Given the description of an element on the screen output the (x, y) to click on. 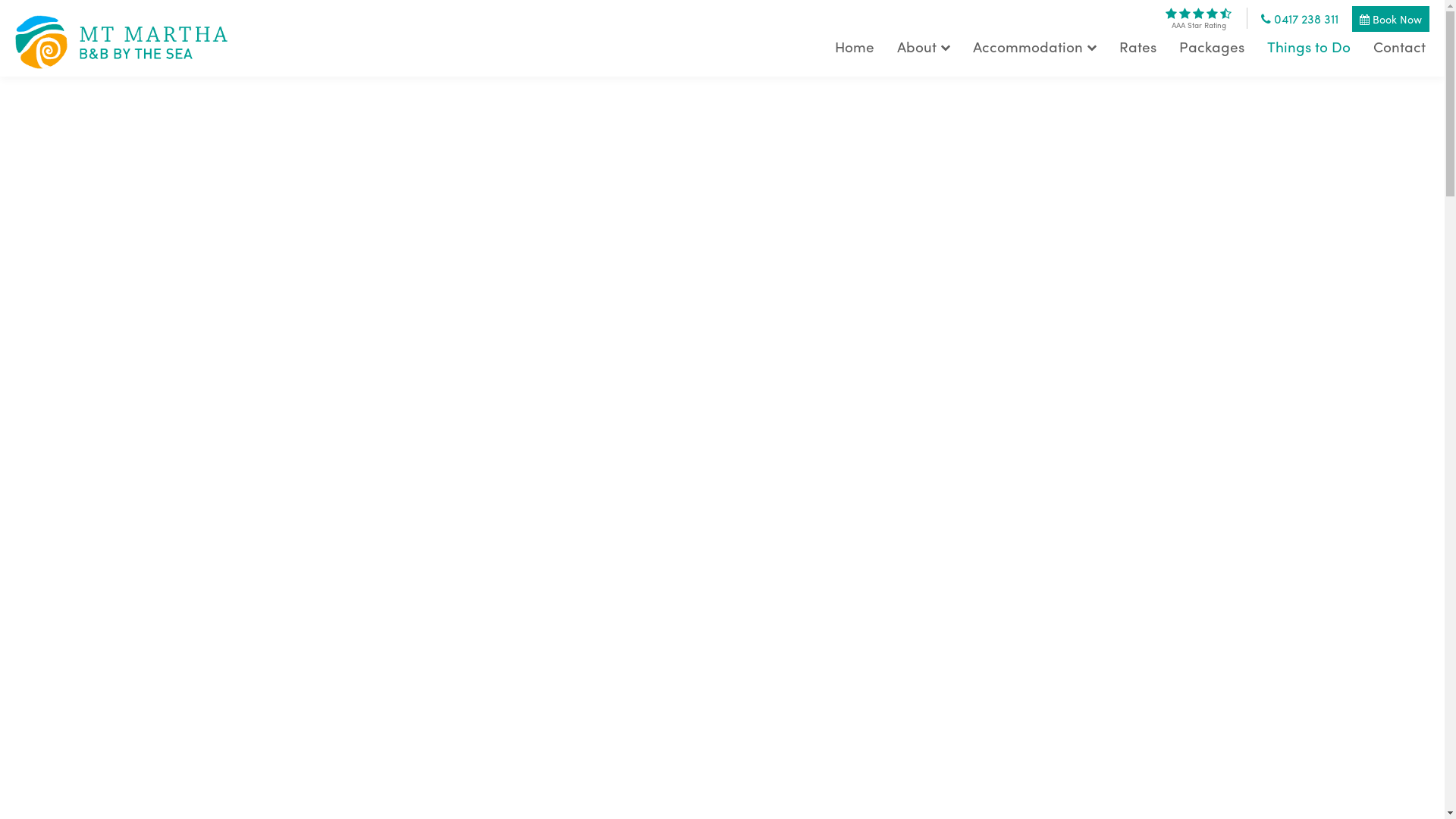
Book Now Element type: text (1390, 18)
Accommodation Element type: text (1034, 46)
Contact Element type: text (1399, 46)
Things to Do Element type: text (1308, 46)
Mount Martha Bed & Breakfast by the Sea Element type: hover (121, 38)
About Element type: text (923, 46)
Rates Element type: text (1137, 46)
Home Element type: text (854, 46)
Packages Element type: text (1211, 46)
